Given the description of an element on the screen output the (x, y) to click on. 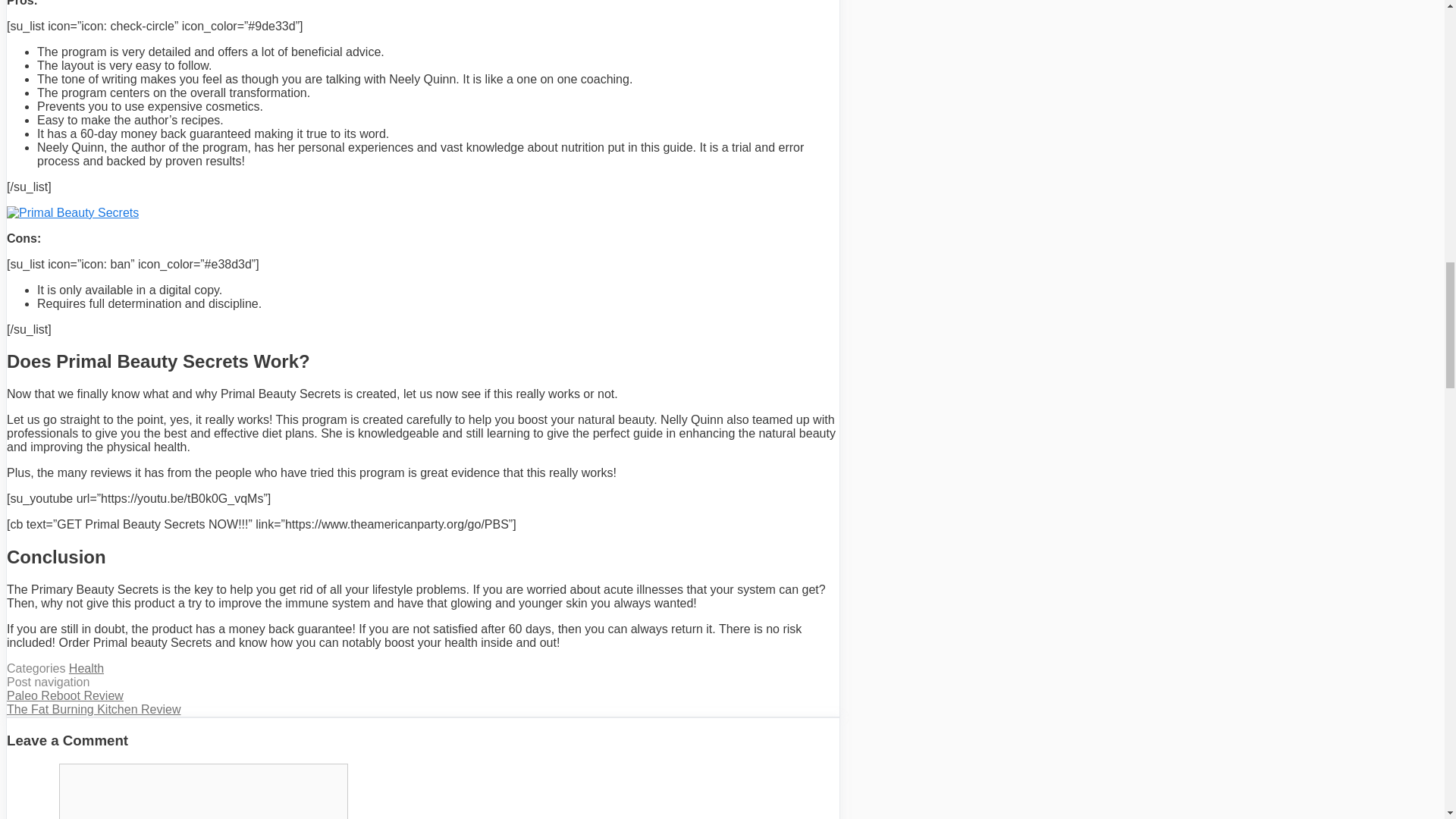
Previous (65, 695)
Next (93, 708)
The Fat Burning Kitchen Review (93, 708)
Health (85, 667)
Paleo Reboot Review (65, 695)
